Given the description of an element on the screen output the (x, y) to click on. 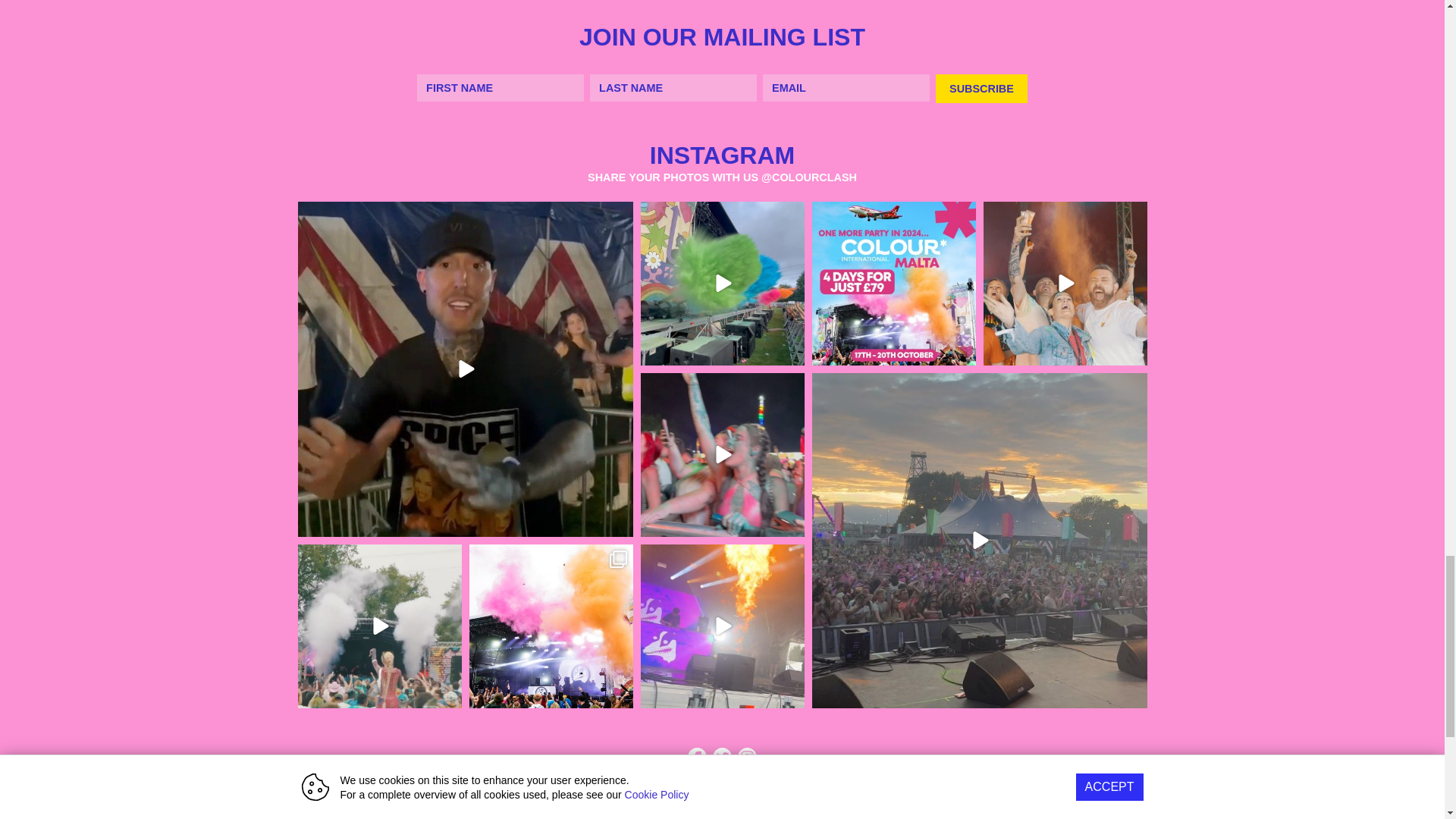
Subscribe (981, 88)
